Given the description of an element on the screen output the (x, y) to click on. 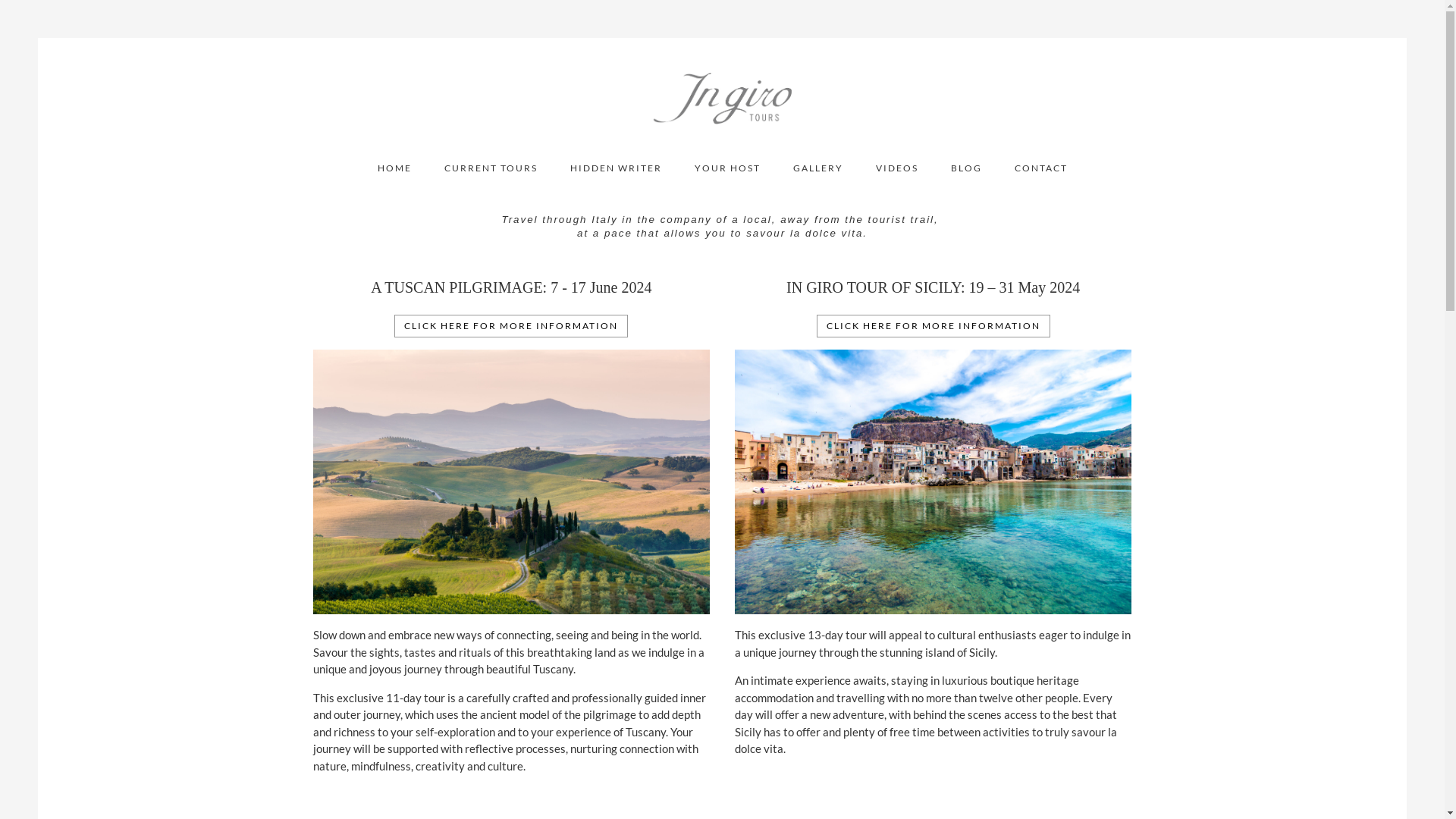
CURRENT TOURS Element type: text (490, 179)
Beautiful view of cefalu, Sicily Element type: hover (933, 481)
GALLERY Element type: text (818, 179)
CLICK HERE FOR MORE INFORMATION Element type: text (510, 325)
VIDEOS Element type: text (896, 179)
CONTACT Element type: text (1040, 179)
Val d'Orcia, Tuscany, Italy Element type: hover (510, 481)
HOME Element type: text (394, 179)
HIDDEN WRITER Element type: text (616, 179)
CLICK HERE FOR MORE INFORMATION Element type: text (933, 325)
YOUR HOST Element type: text (727, 179)
BLOG Element type: text (966, 179)
